Given the description of an element on the screen output the (x, y) to click on. 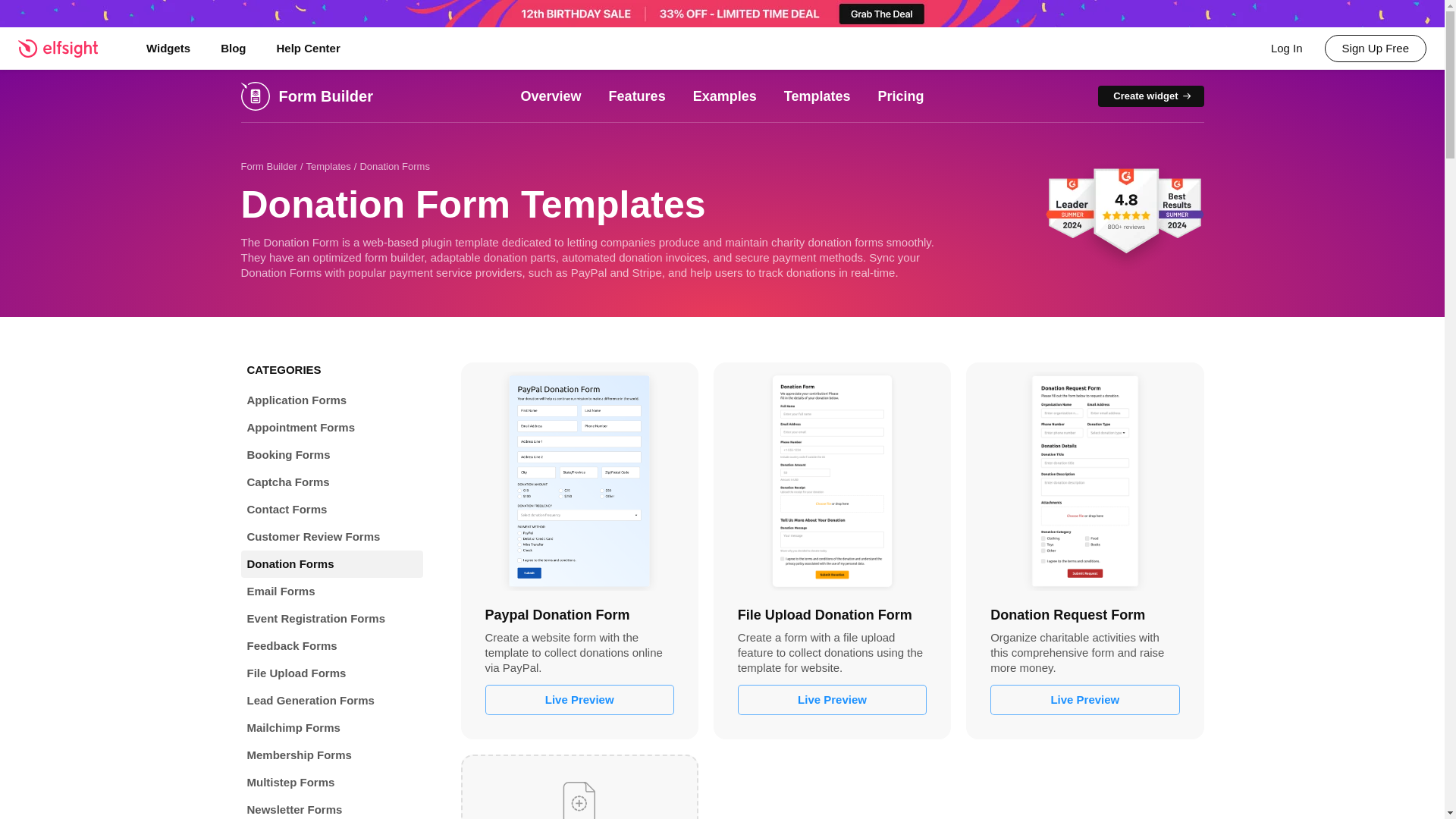
Widgets (168, 48)
File Upload Donation Form (832, 480)
Donation Request Form (1084, 480)
Elfsight - Premium Plugins For Websites (66, 48)
Paypal Donation Form (579, 480)
